Given the description of an element on the screen output the (x, y) to click on. 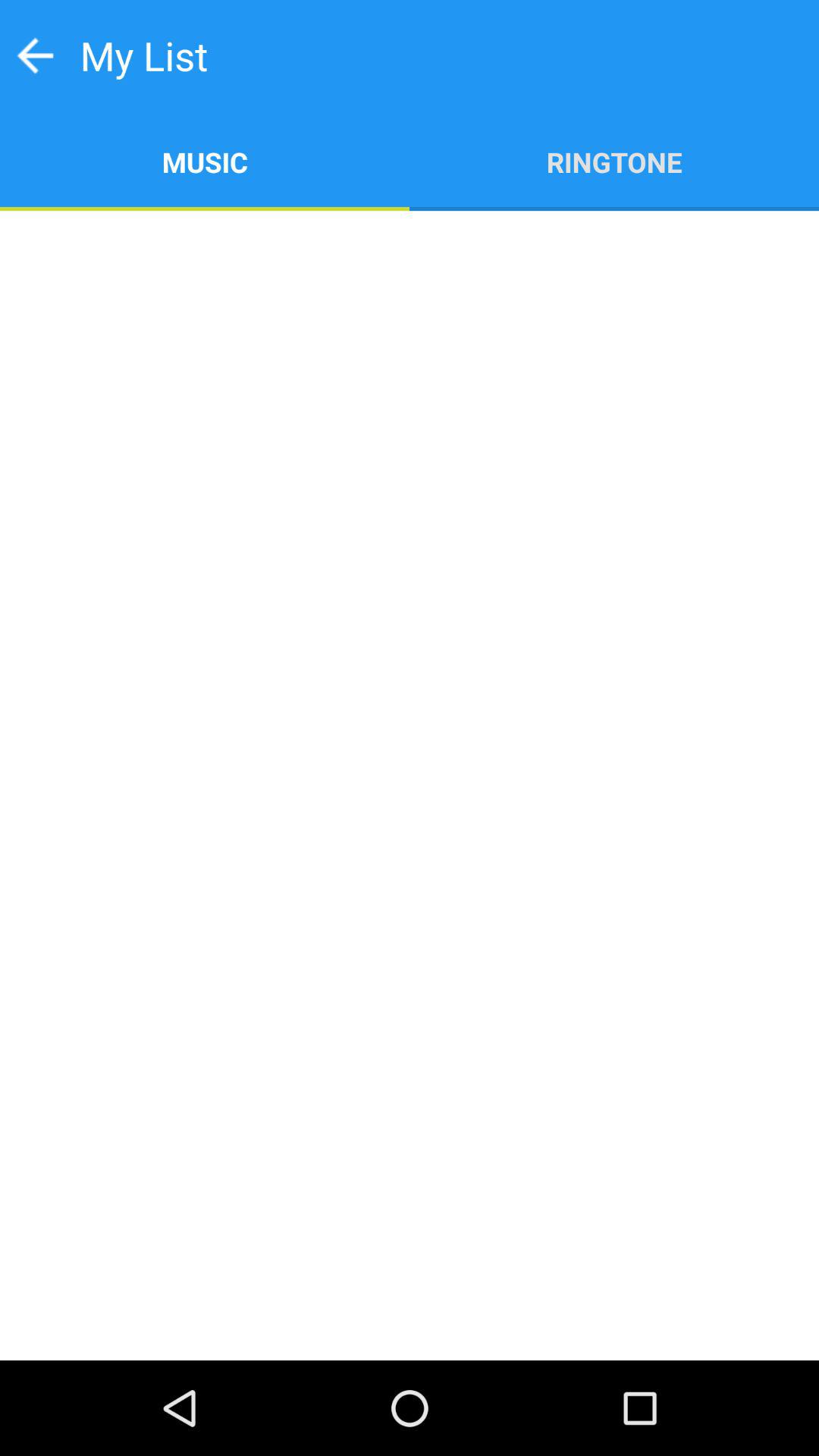
launch app to the left of ringtone app (204, 161)
